Given the description of an element on the screen output the (x, y) to click on. 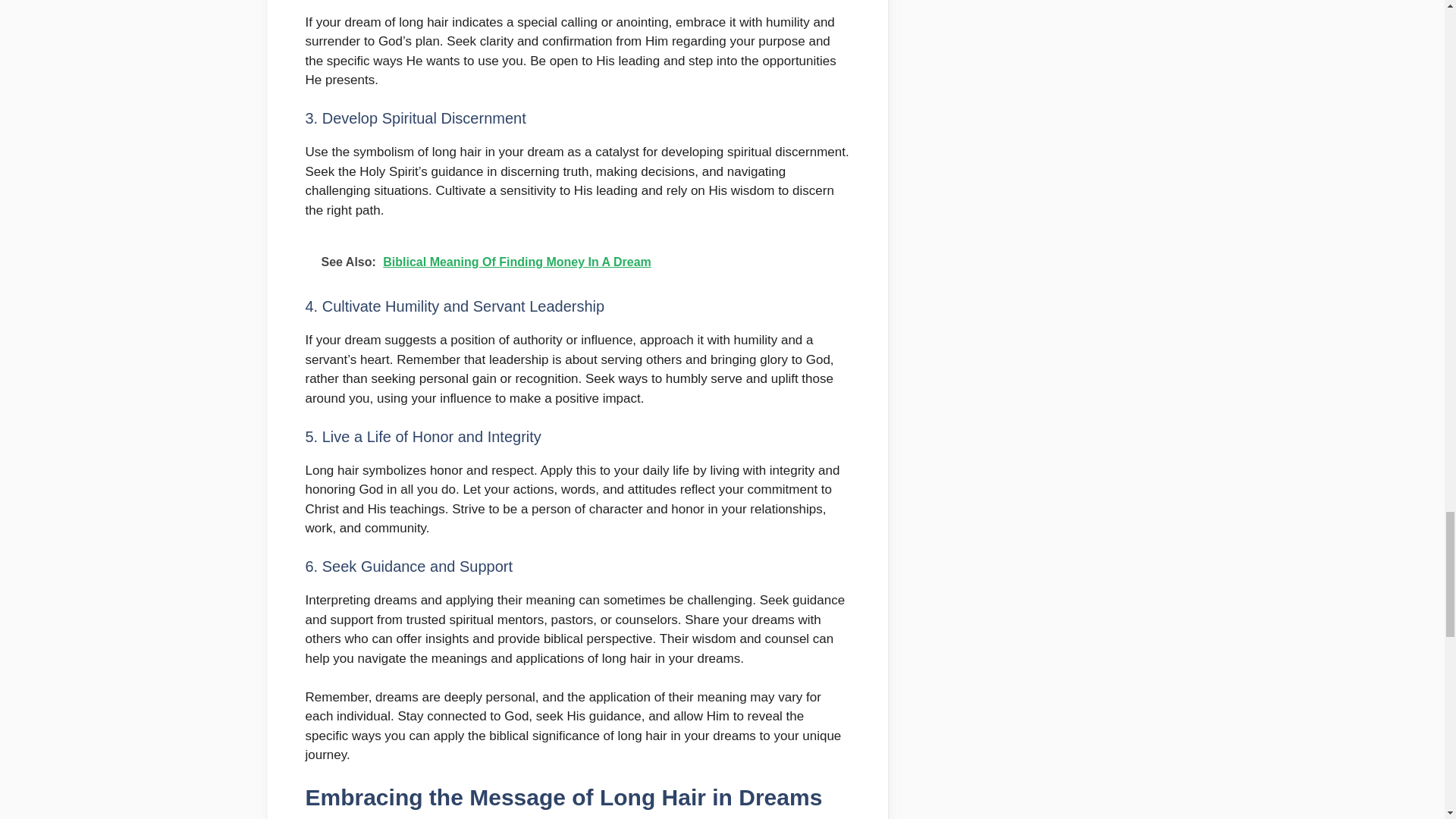
See Also:  Biblical Meaning Of Finding Money In A Dream (576, 262)
